Given the description of an element on the screen output the (x, y) to click on. 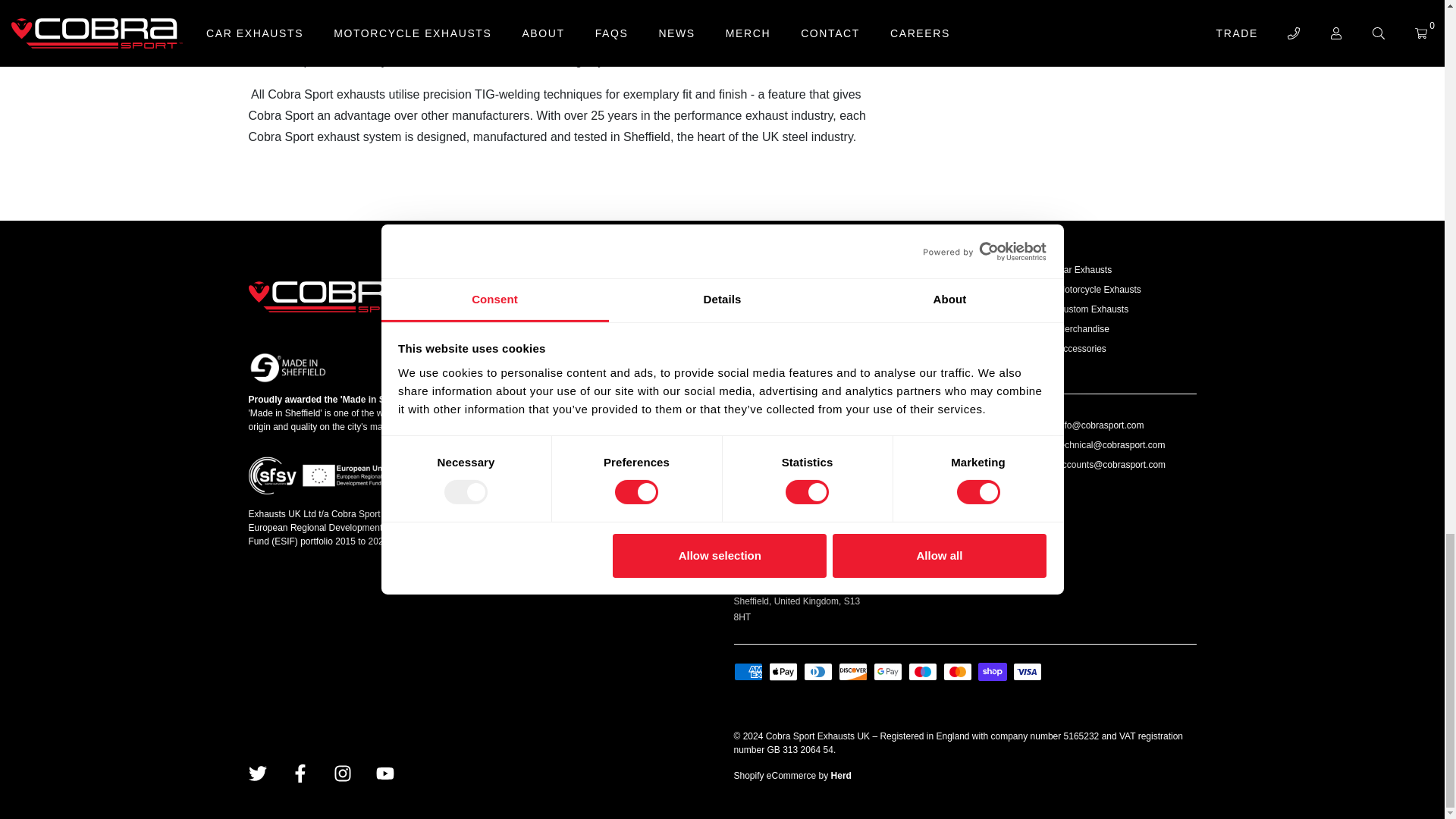
Apple Pay (782, 671)
Mastercard (957, 671)
Shop Pay (992, 671)
American Express (747, 671)
Discover (852, 671)
Maestro (922, 671)
Visa (1027, 671)
Diners Club (817, 671)
Google Pay (887, 671)
